Given the description of an element on the screen output the (x, y) to click on. 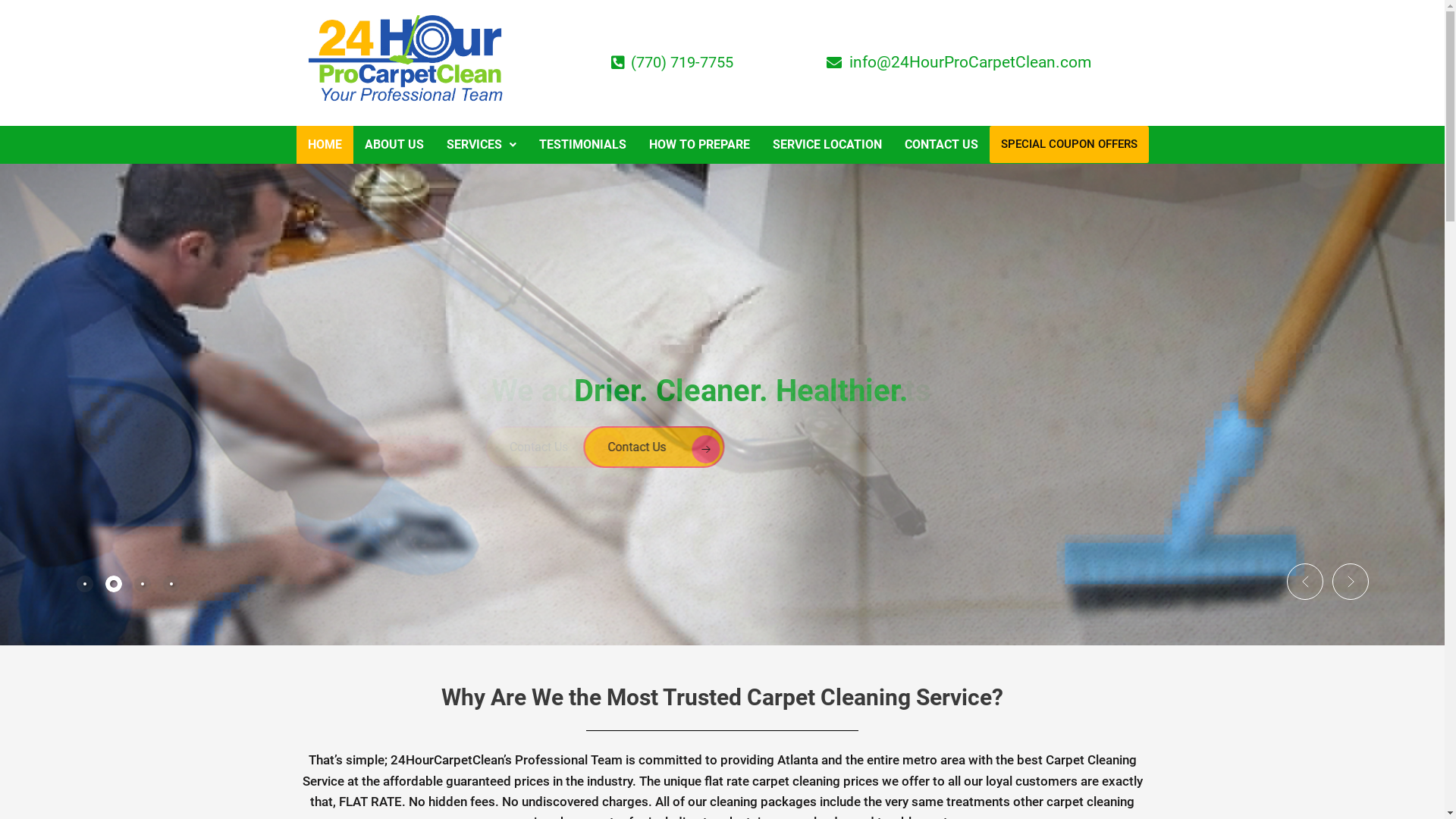
TESTIMONIALS Element type: text (582, 144)
SPECIAL COUPON OFFERS Element type: text (1068, 144)
(770) 719-7755 Element type: text (670, 62)
HOME Element type: text (323, 144)
ABOUT US Element type: text (394, 144)
info@24HourProCarpetClean.com Element type: text (958, 62)
HOW TO PREPARE Element type: text (698, 144)
SERVICE LOCATION Element type: text (827, 144)
SERVICES Element type: text (481, 144)
Contact Us Element type: text (572, 446)
CONTACT US Element type: text (941, 144)
